Given the description of an element on the screen output the (x, y) to click on. 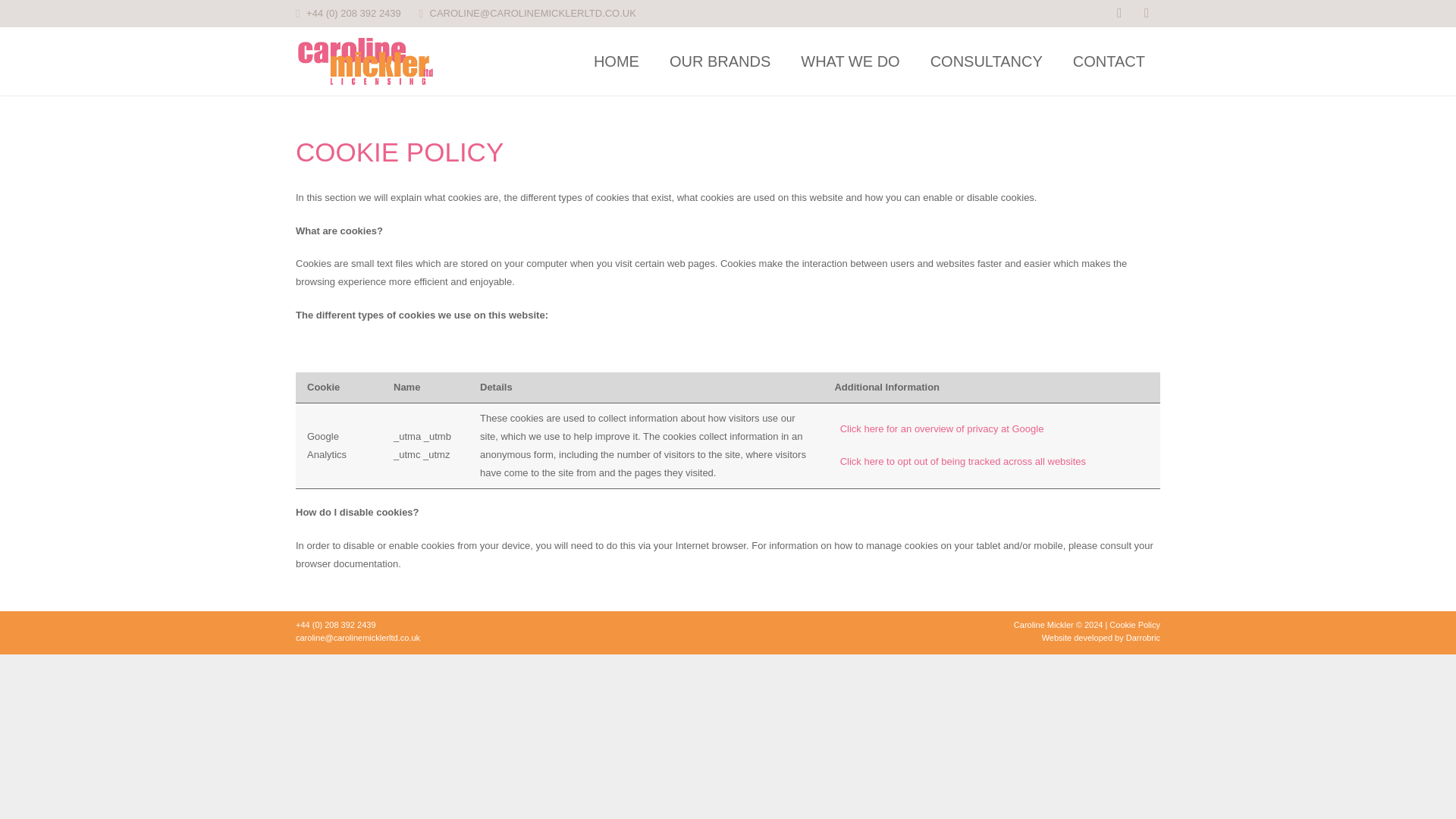
OUR BRANDS (719, 61)
Click here for an overview of privacy at Google (941, 428)
Cookie Policy (1134, 624)
HOME (615, 61)
CONTACT (1109, 61)
Click here to opt out of being tracked across all websites (963, 460)
Darrobric (1142, 637)
CONSULTANCY (986, 61)
WHAT WE DO (850, 61)
